Given the description of an element on the screen output the (x, y) to click on. 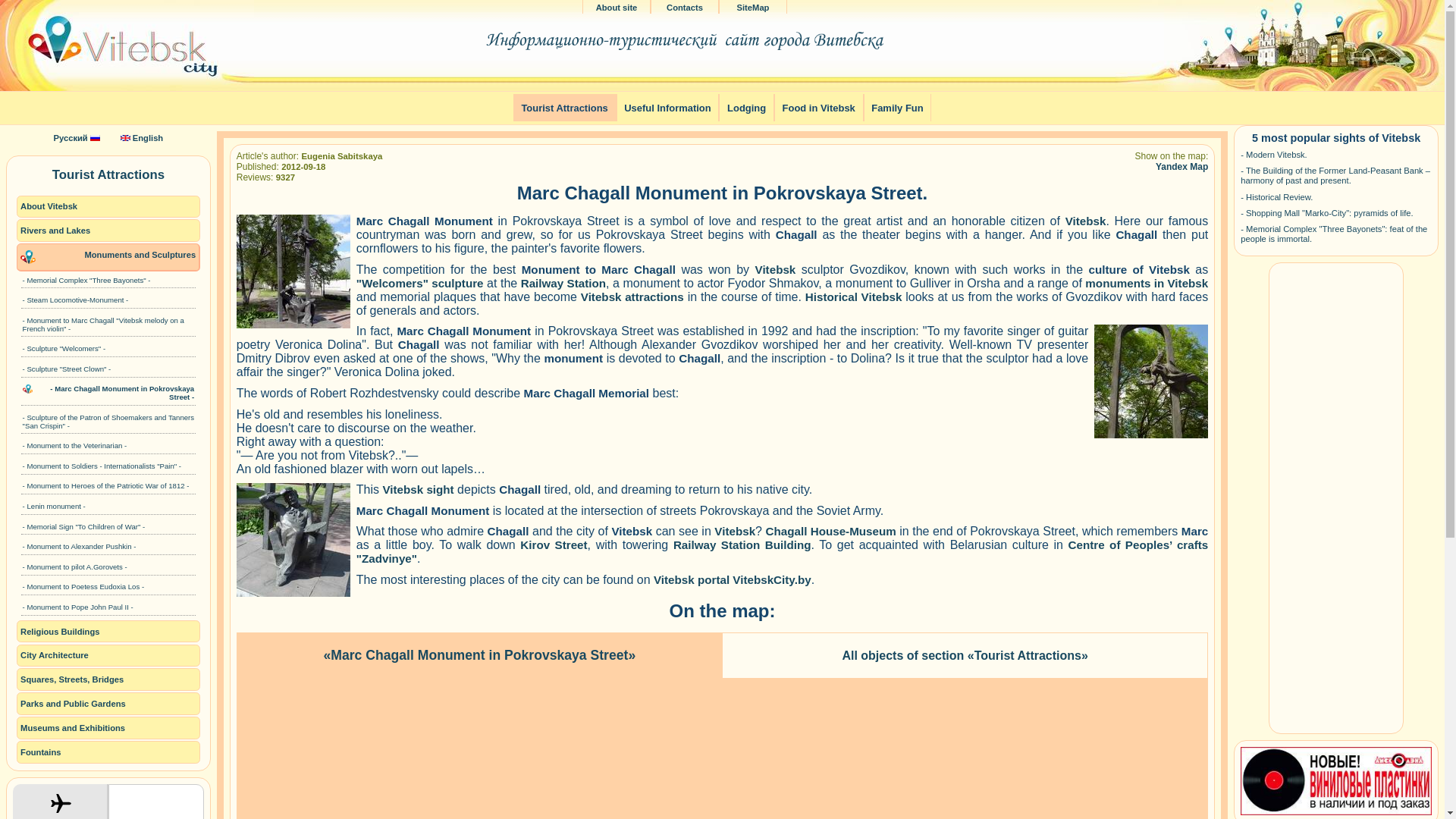
Tourist Attractions (564, 107)
Lodging (746, 107)
About site (615, 7)
Yandex Map (1182, 166)
On this page the sitemap of VitebskCity.by is placed. (752, 7)
Food in Vitebsk (818, 107)
Contact information (684, 7)
Vitebsk (1085, 220)
SiteMap (752, 7)
Family Fun (897, 107)
Contacts (684, 7)
Useful Information (667, 107)
